Given the description of an element on the screen output the (x, y) to click on. 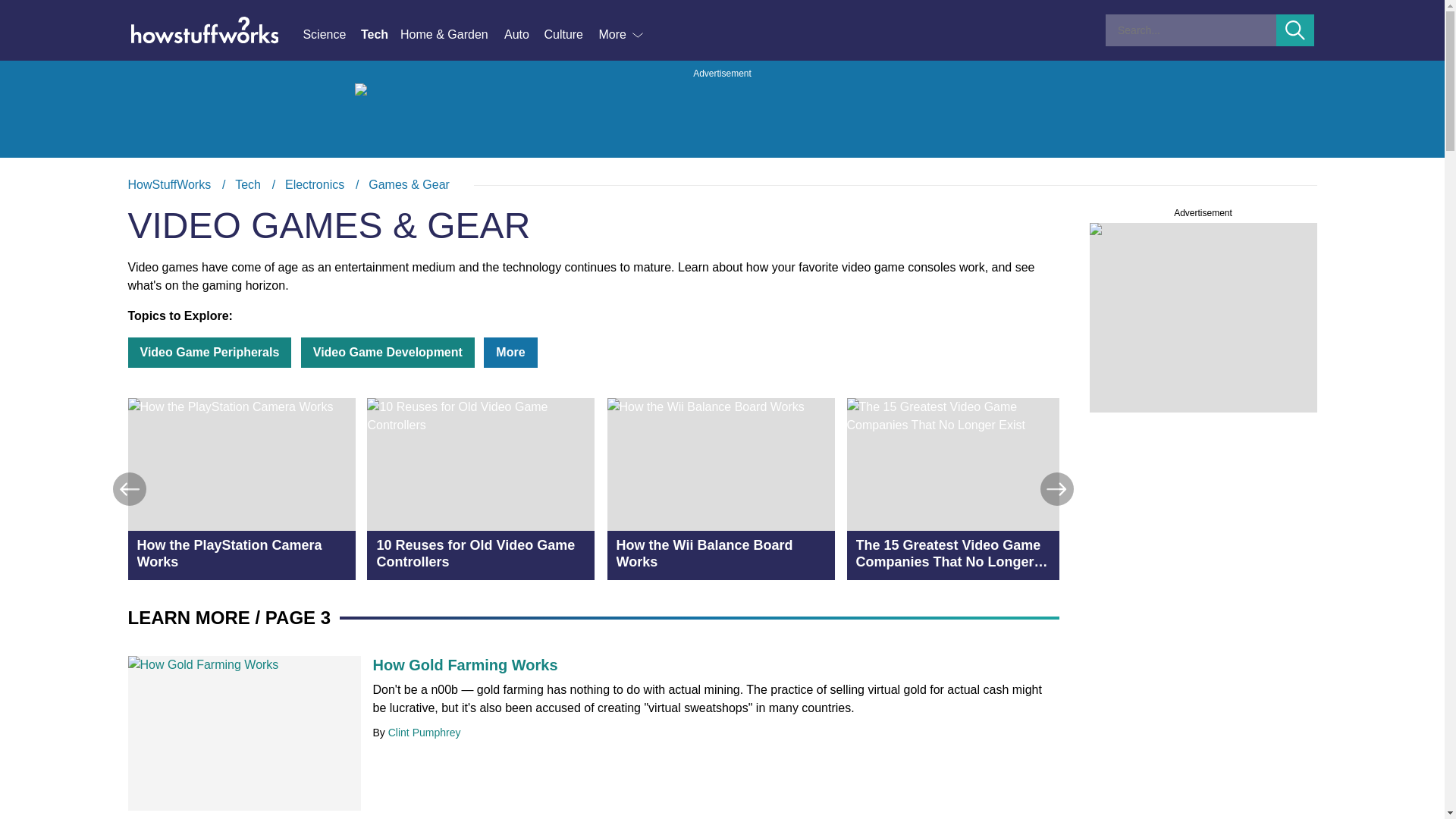
Auto (523, 34)
Culture (570, 34)
Tech (247, 184)
Science (330, 34)
HowStuffWorks (169, 184)
Tech (380, 34)
Electronics (314, 184)
More (621, 34)
Submit Search (1295, 29)
